Given the description of an element on the screen output the (x, y) to click on. 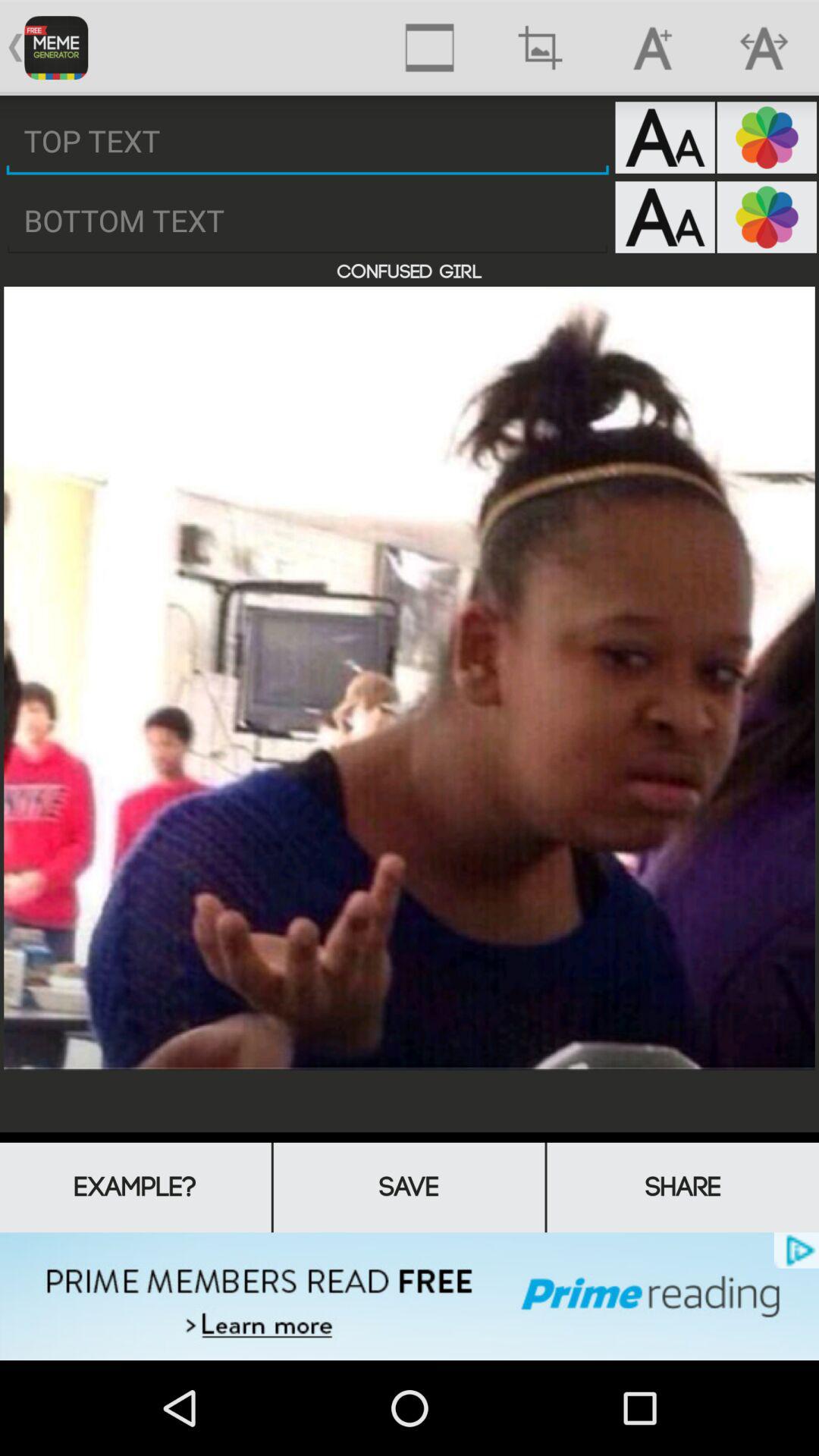
enter top text (307, 141)
